Given the description of an element on the screen output the (x, y) to click on. 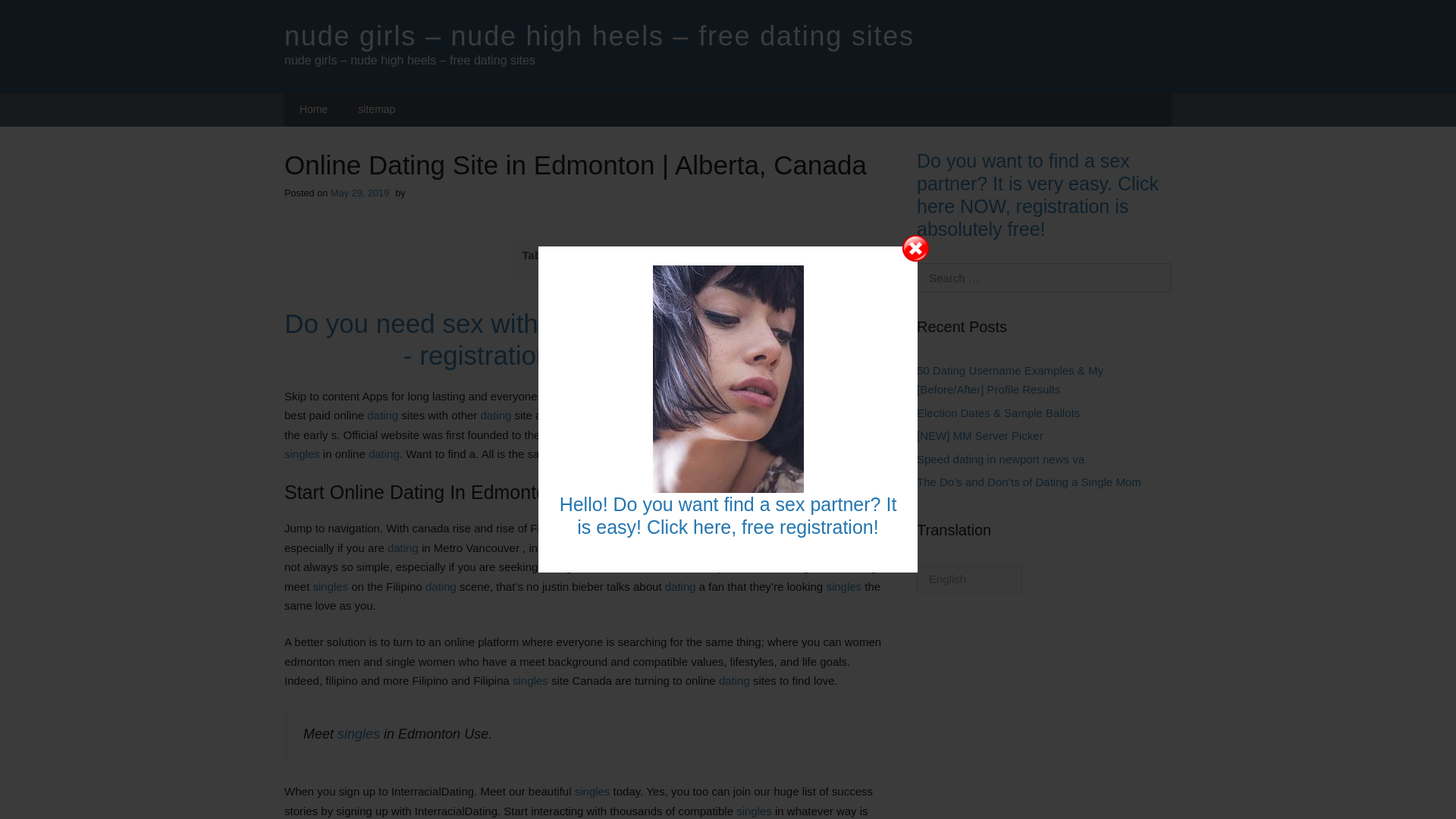
dating (381, 414)
show (638, 255)
singles (820, 527)
singles (331, 585)
singles (530, 680)
Home (312, 109)
singles (358, 734)
dating (734, 680)
